Given the description of an element on the screen output the (x, y) to click on. 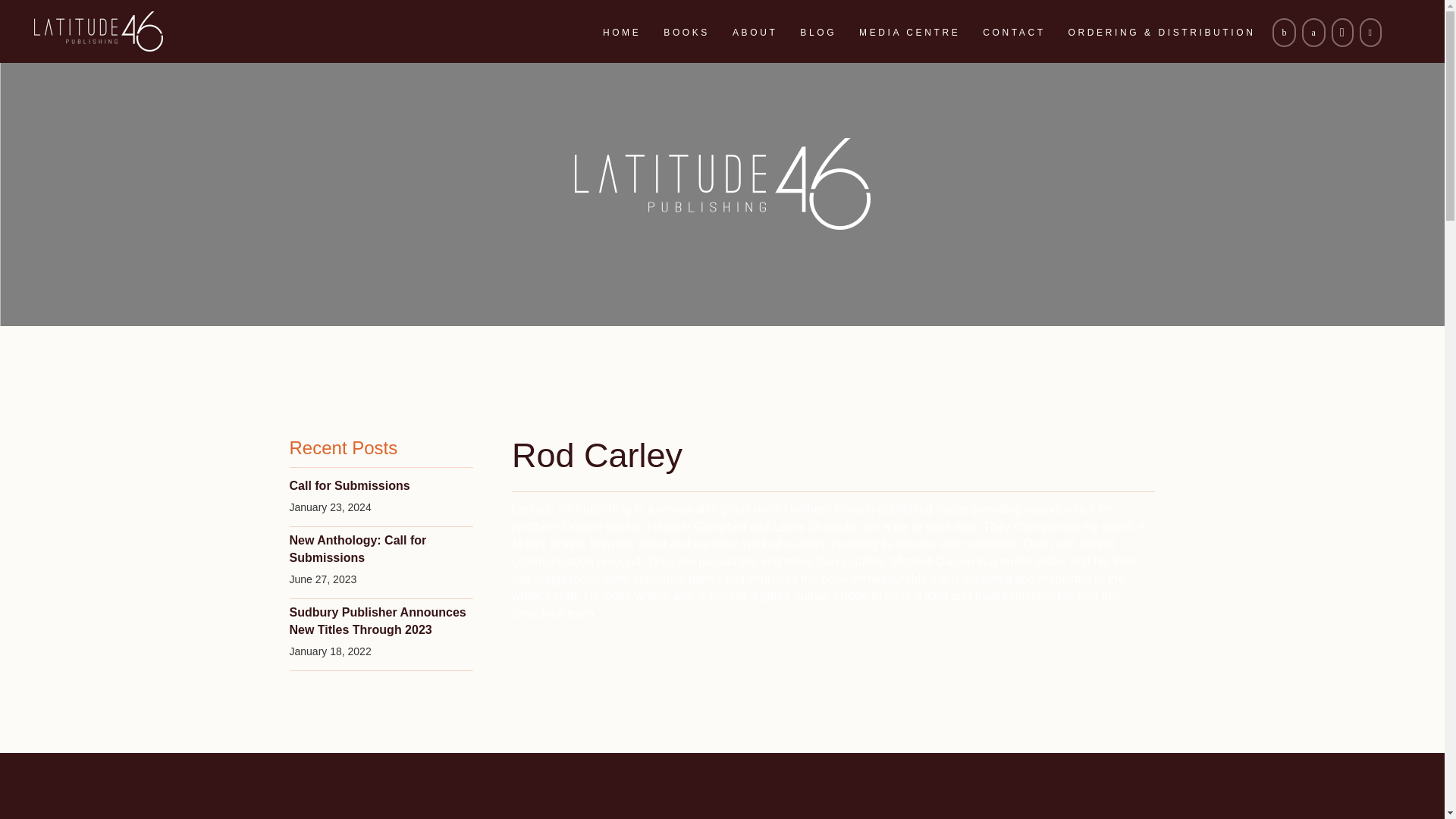
ABOUT (754, 32)
Call for Submissions (349, 485)
MEDIA CENTRE (909, 32)
BOOKS (686, 32)
a (1312, 32)
New Anthology: Call for Submissions (357, 548)
CONTACT (1014, 32)
b (1283, 32)
BLOG (818, 32)
Sudbury Publisher Announces New Titles Through 2023 (377, 620)
HOME (621, 32)
